Given the description of an element on the screen output the (x, y) to click on. 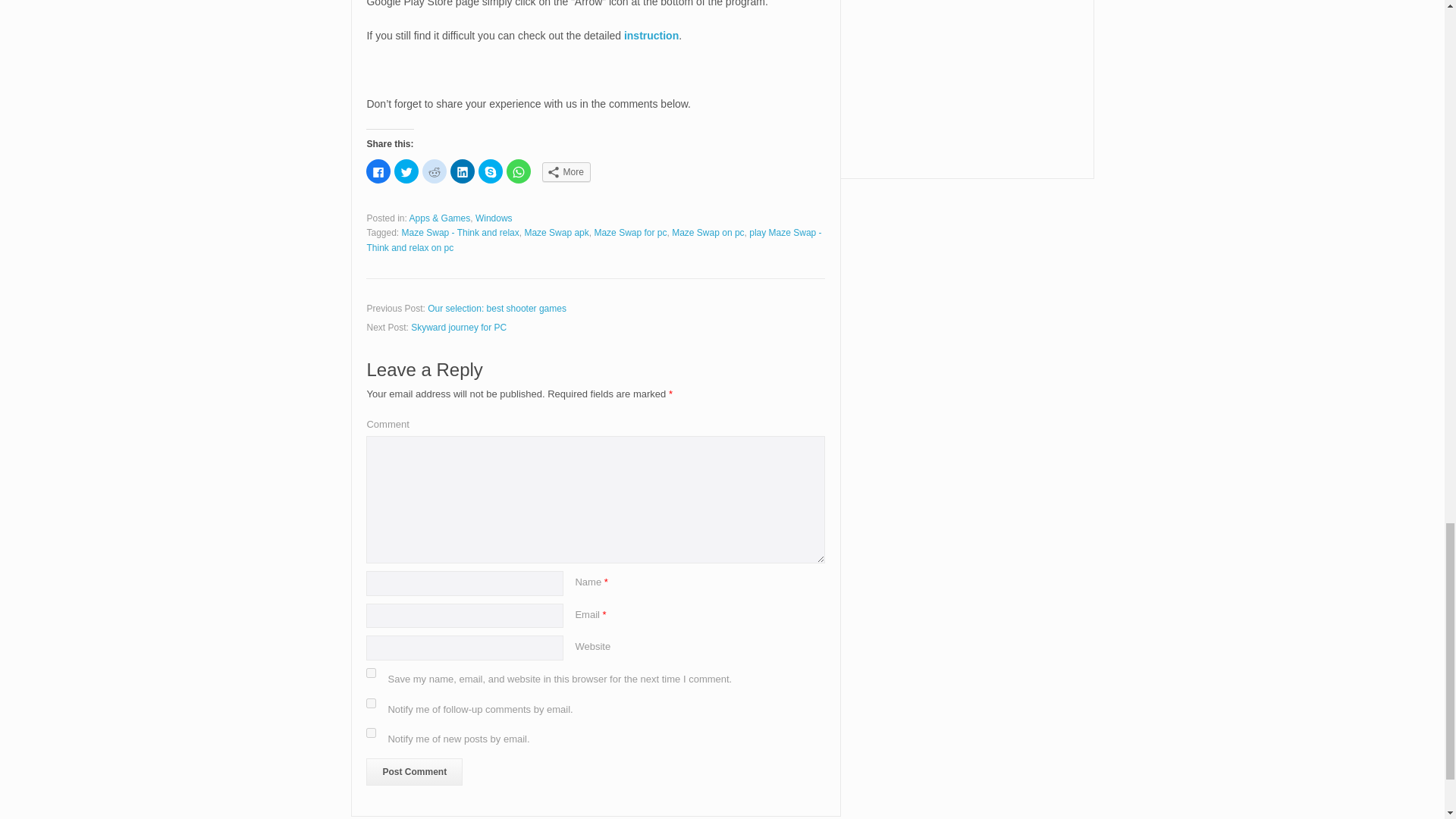
Click to share on Skype (490, 170)
Maze Swap on pc (707, 232)
subscribe (370, 703)
instruction (651, 35)
Maze Swap apk (556, 232)
Click to share on LinkedIn (461, 170)
subscribe (370, 732)
More (565, 171)
Click to share on Facebook (378, 170)
Click to share on Reddit (434, 170)
yes (370, 673)
Our selection: best shooter games (497, 308)
Maze Swap - Think and relax (460, 232)
Click to share on WhatsApp (518, 170)
Click to share on Twitter (406, 170)
